Given the description of an element on the screen output the (x, y) to click on. 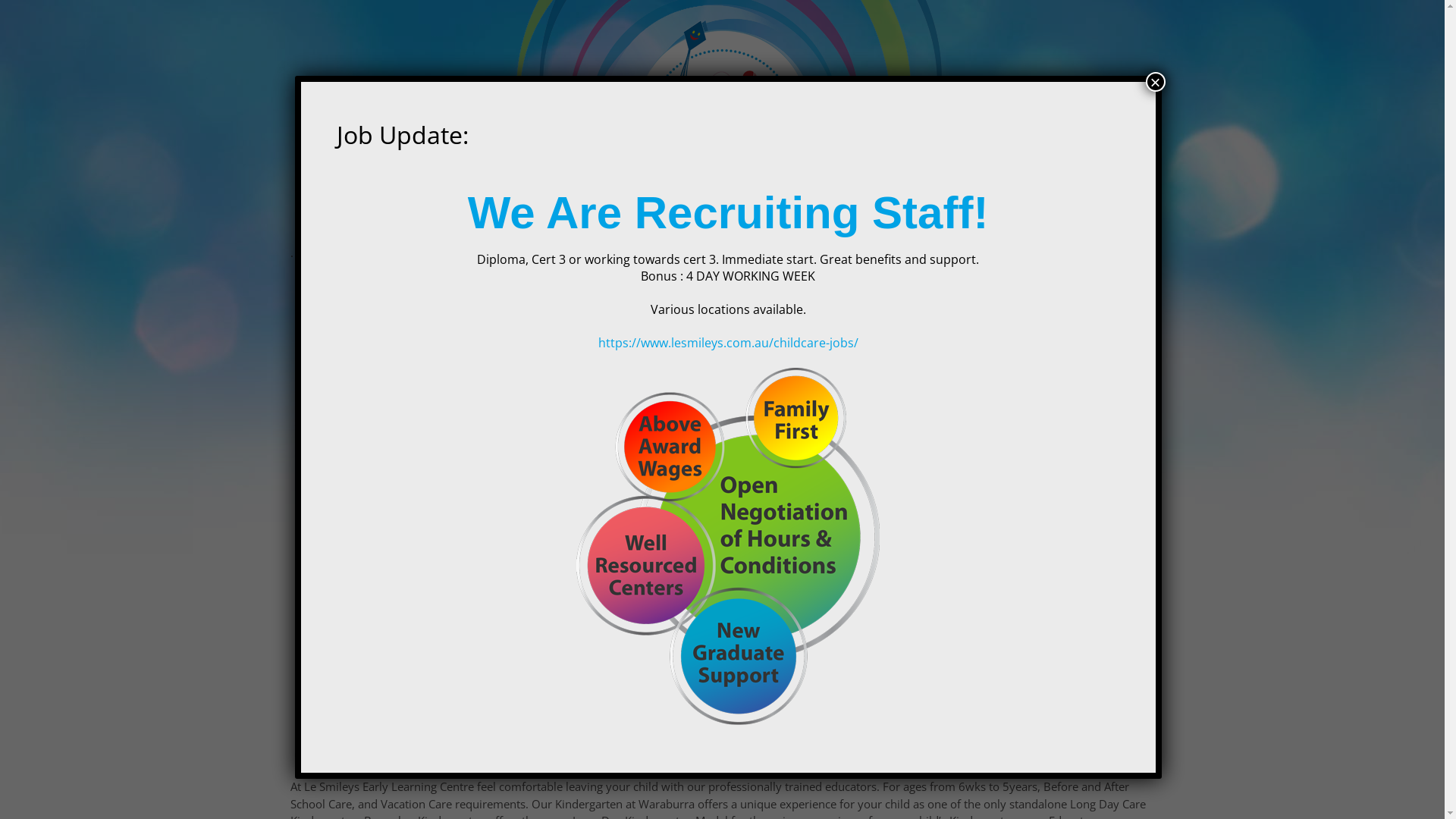
CAREERS Element type: text (912, 221)
KINDERGARTENS Element type: text (653, 221)
ENROLMENTS Element type: text (761, 221)
EARLY LEARNING Element type: text (535, 221)
FORMS Element type: text (843, 221)
CONTACT Element type: text (987, 221)
https://www.lesmileys.com.au/childcare-jobs/ Element type: text (727, 342)
HOME Element type: text (447, 221)
